Given the description of an element on the screen output the (x, y) to click on. 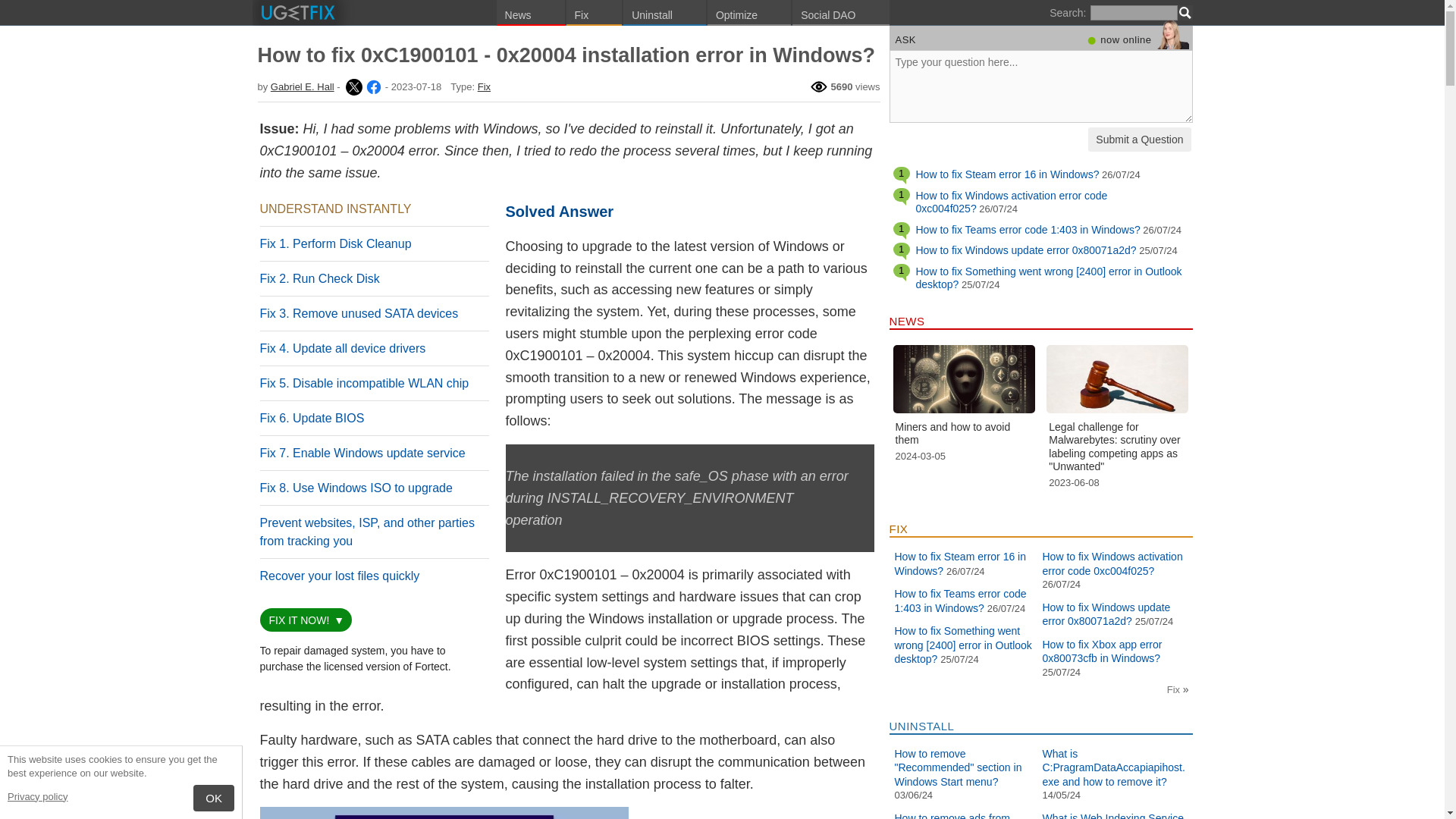
Privacy policy (36, 795)
Gabriel E. Hall (371, 86)
Social DAO (840, 12)
Fix 8. Use Windows ISO to upgrade (355, 487)
Fix 7. Enable Windows update service (361, 452)
Uninstall (664, 12)
Prevent websites, ISP, and other parties from tracking you (366, 531)
Gabriel E. Hall (352, 86)
Recover your lost files quickly (339, 575)
Optimize (748, 12)
Fix 1. Perform Disk Cleanup (334, 243)
Fix (483, 86)
News (530, 12)
Fix 2. Run Check Disk (318, 278)
Fix 5. Disable incompatible WLAN chip (363, 382)
